Given the description of an element on the screen output the (x, y) to click on. 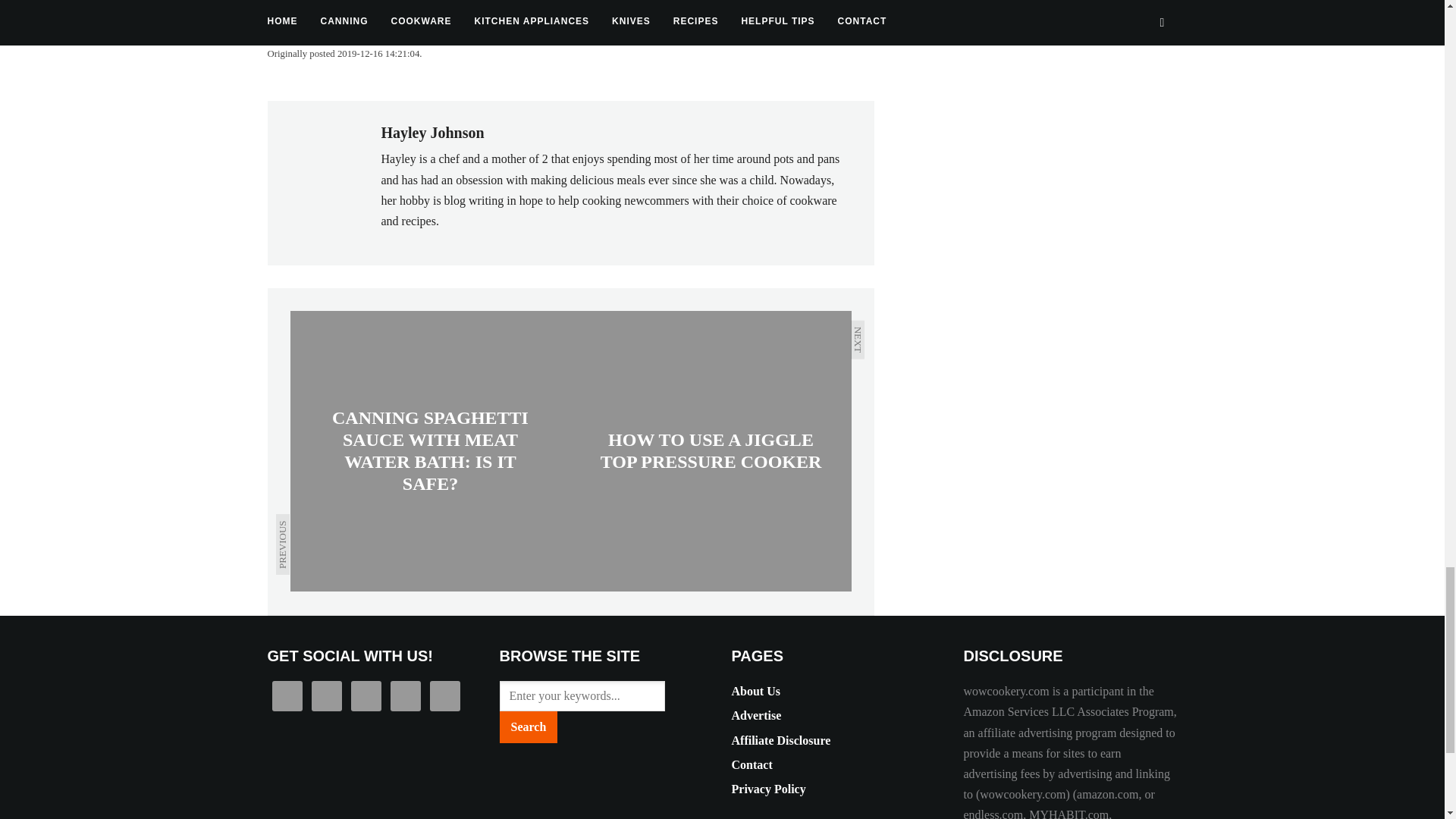
Search (528, 726)
Canning Spaghetti Sauce with Meat Water Bath: Is it Safe? (429, 451)
Posts by Hayley Johnson (431, 132)
Search (528, 726)
How to Use a Jiggle Top Pressure Cooker (710, 451)
